Given the description of an element on the screen output the (x, y) to click on. 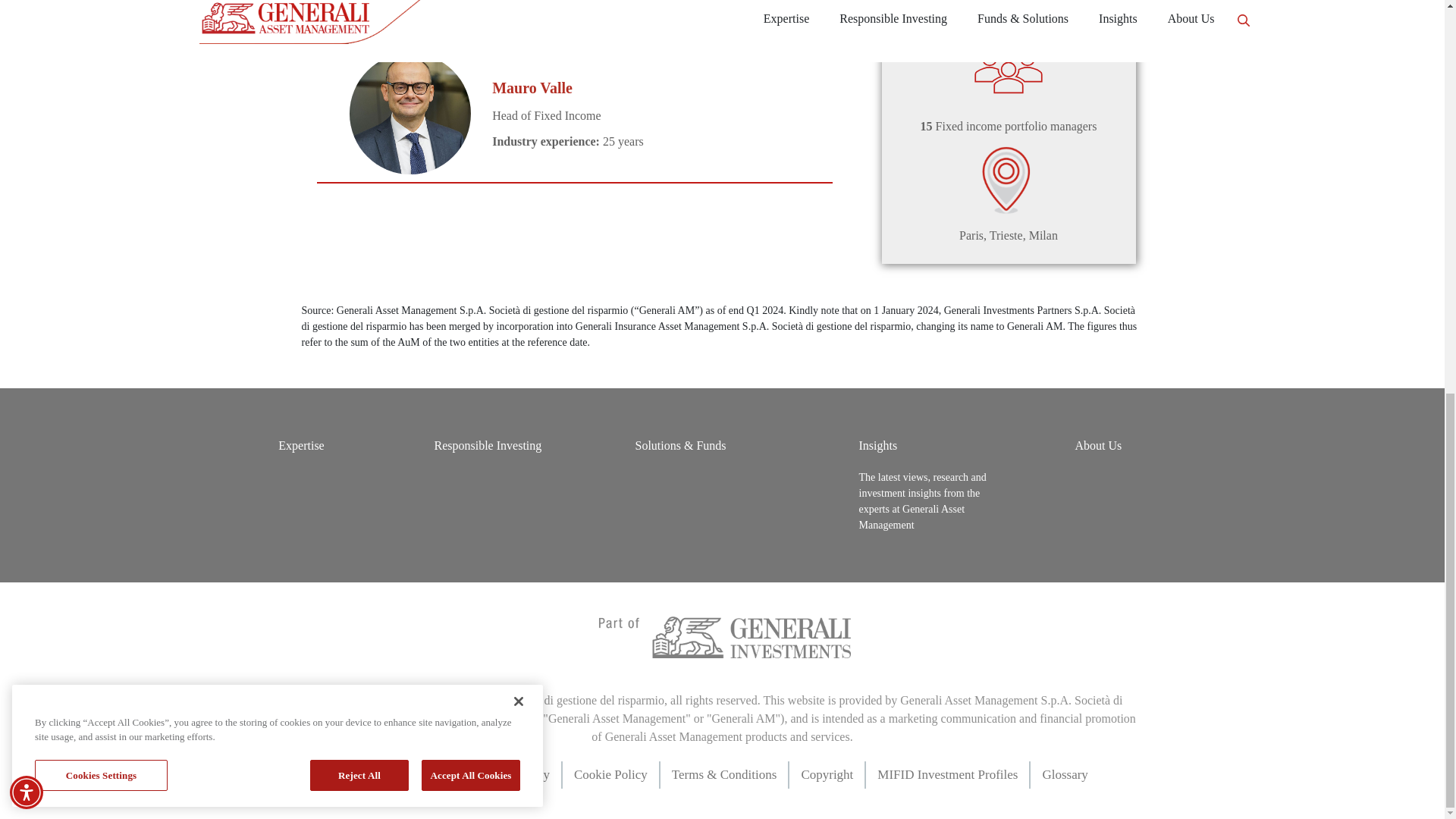
Accessibility Menu (26, 35)
